Given the description of an element on the screen output the (x, y) to click on. 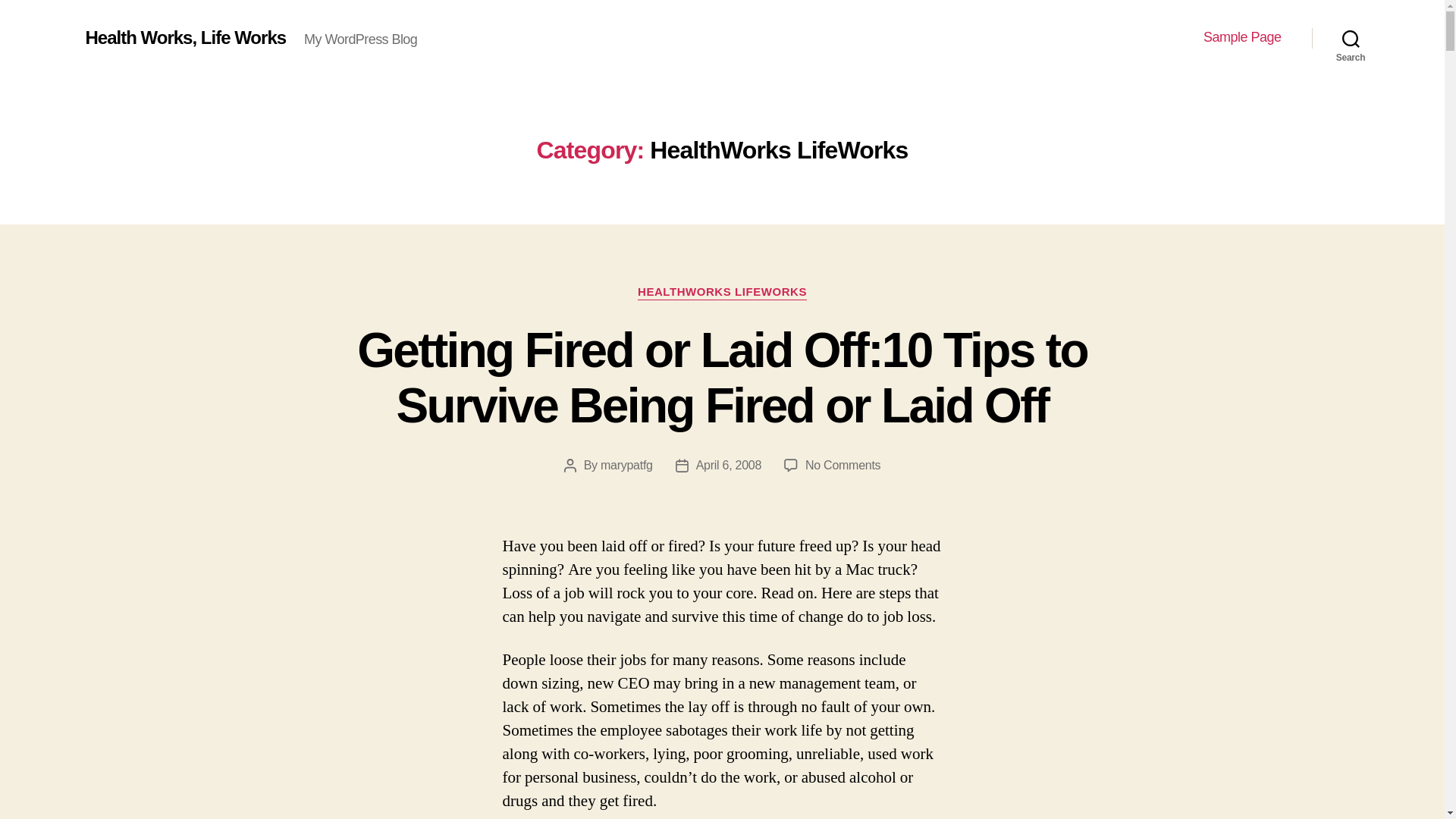
Sample Page (1242, 37)
HEALTHWORKS LIFEWORKS (721, 292)
marypatfg (625, 464)
April 6, 2008 (728, 464)
Search (1350, 37)
Health Works, Life Works (184, 37)
